Given the description of an element on the screen output the (x, y) to click on. 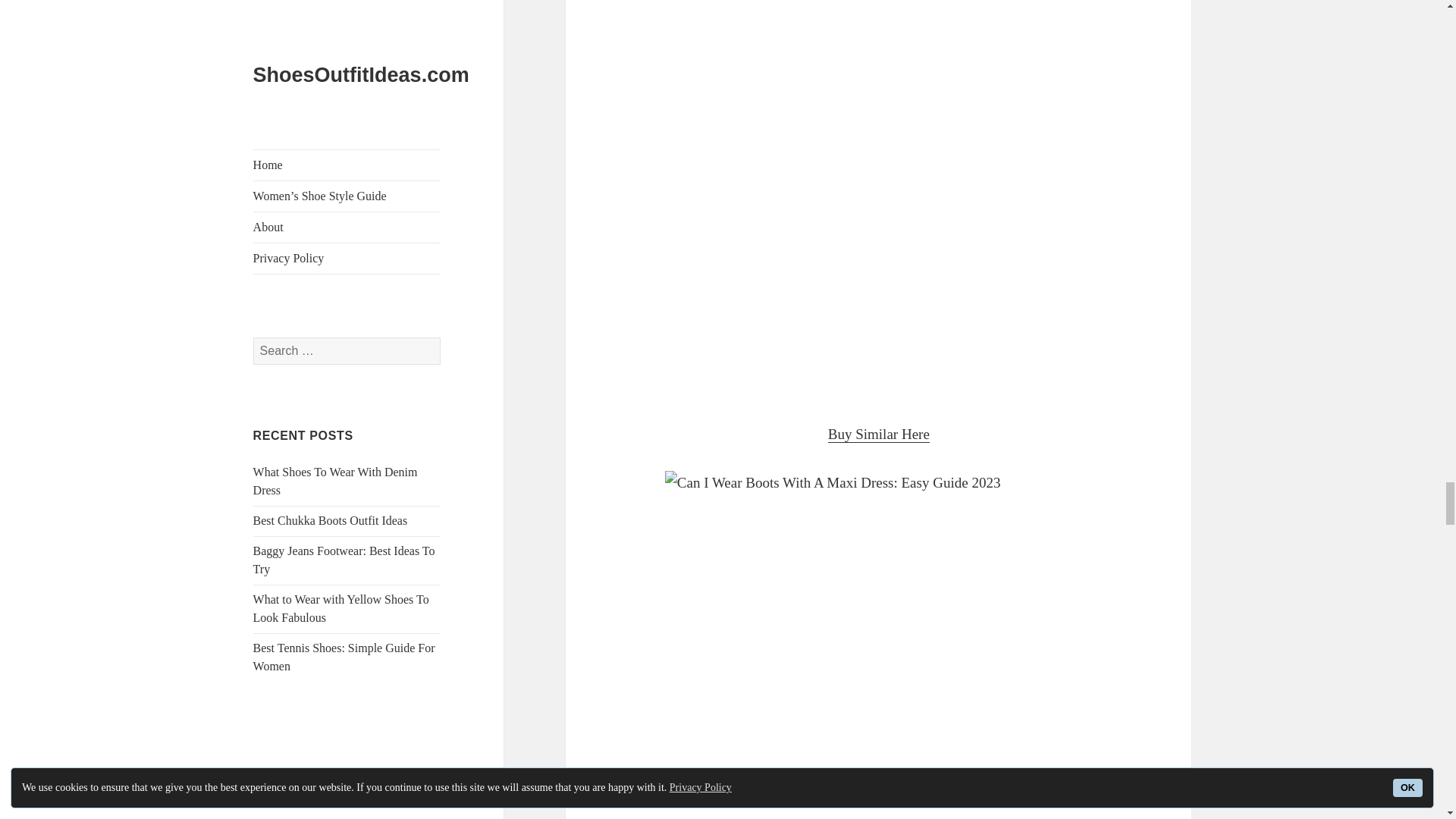
Buy Similar Here (879, 434)
